Given the description of an element on the screen output the (x, y) to click on. 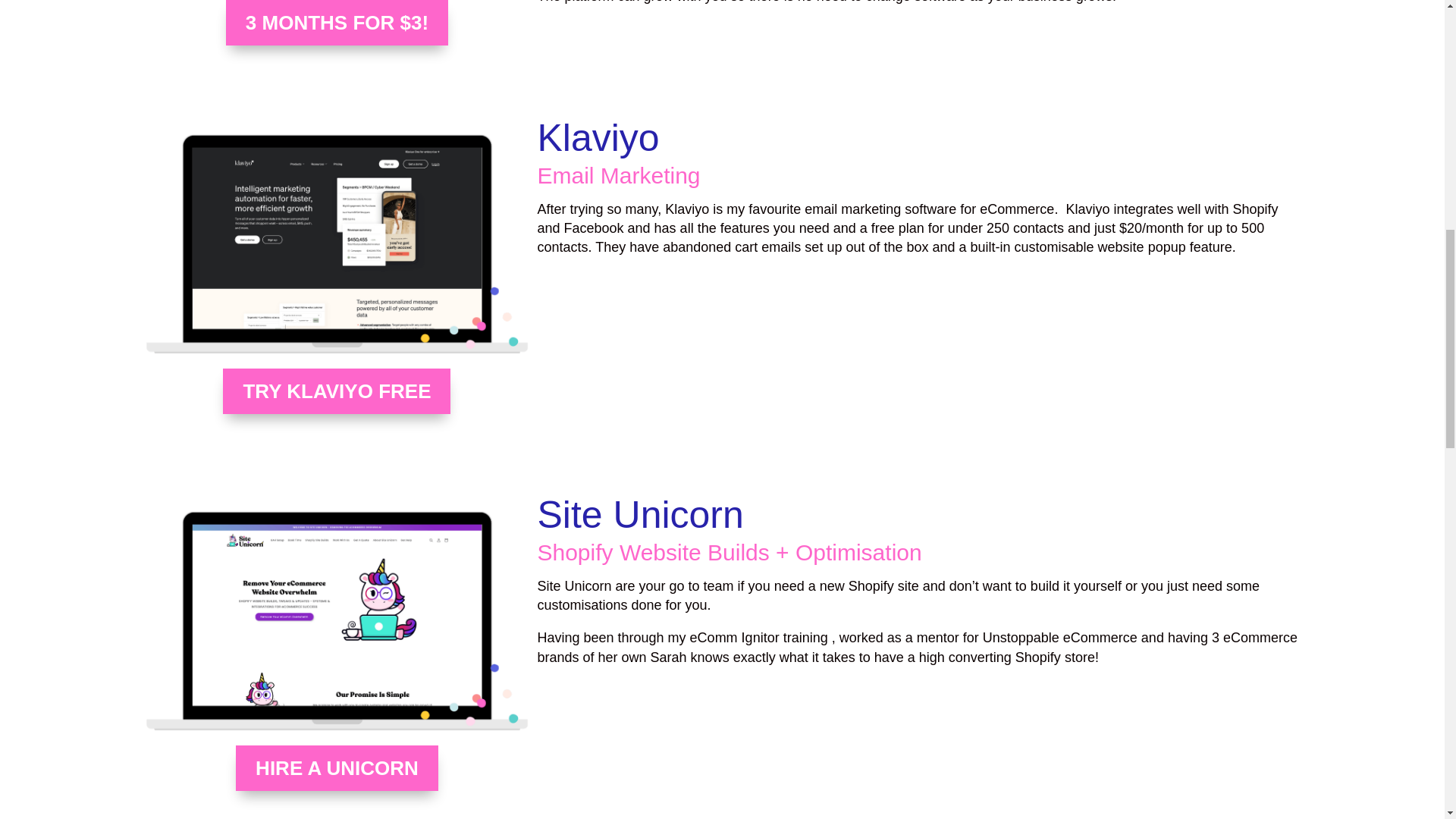
Site Unicorn Shopify assistance (336, 620)
Klaviyo email (336, 243)
TRY KLAVIYO FREE (335, 391)
HIRE A UNICORN (336, 768)
